Given the description of an element on the screen output the (x, y) to click on. 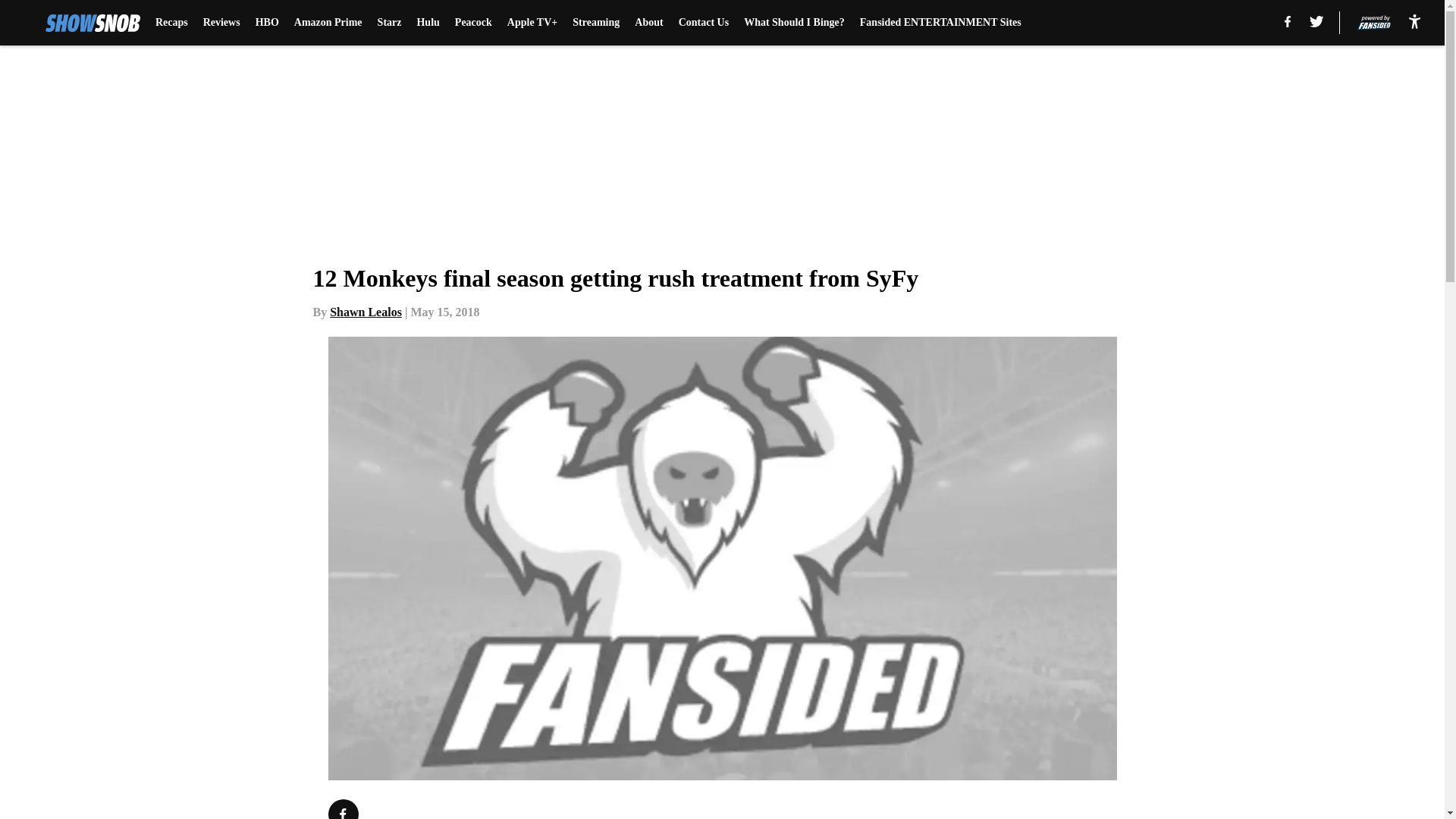
Peacock (473, 22)
Hulu (427, 22)
About (648, 22)
Reviews (221, 22)
HBO (267, 22)
Contact Us (703, 22)
Starz (389, 22)
Amazon Prime (328, 22)
Fansided ENTERTAINMENT Sites (941, 22)
What Should I Binge? (794, 22)
